Given the description of an element on the screen output the (x, y) to click on. 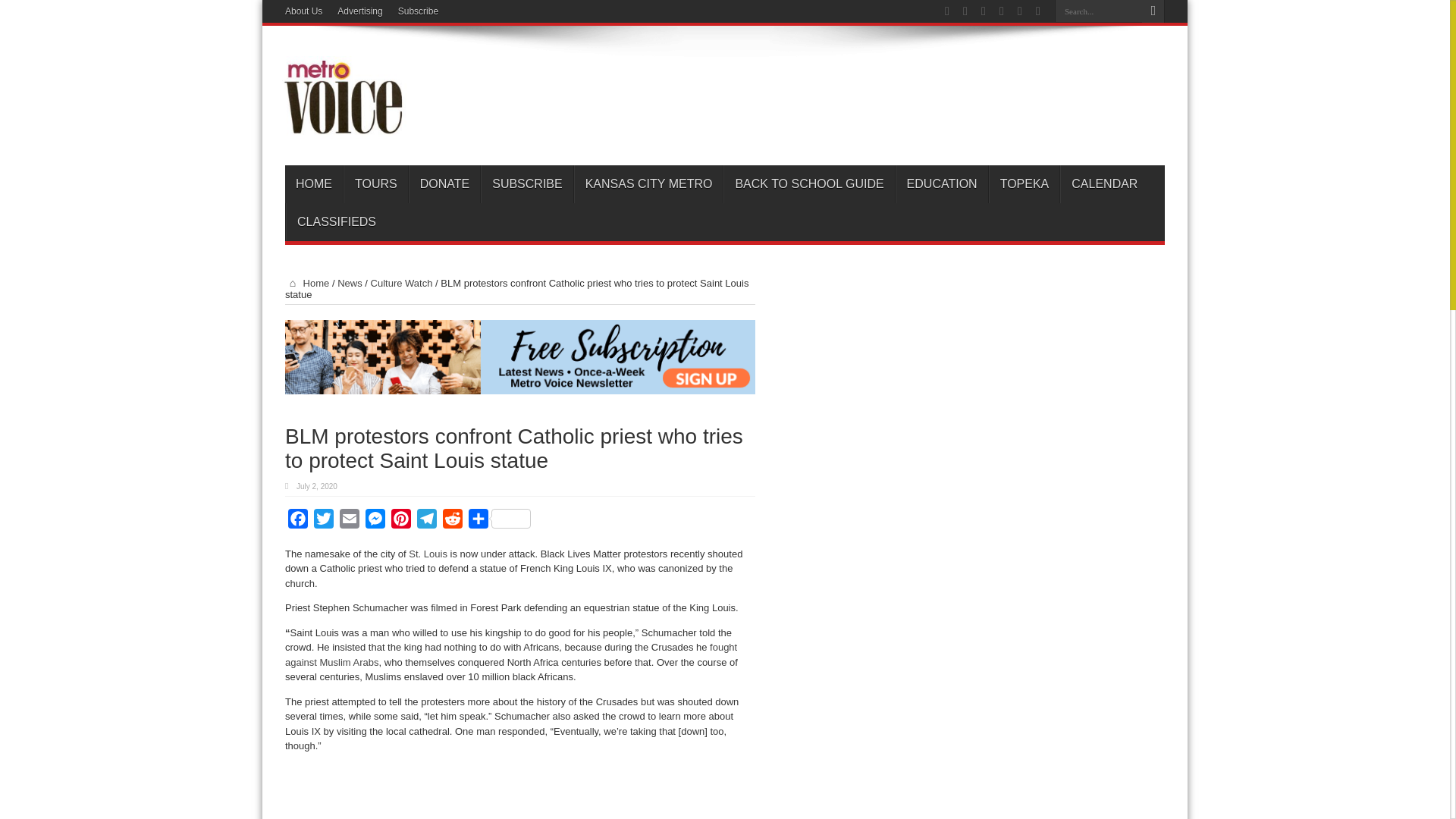
BACK TO SCHOOL GUIDE (808, 184)
KANSAS CITY METRO (648, 184)
Twitter (323, 521)
TOURS (375, 184)
Pinterest (400, 521)
SUBSCRIBE (526, 184)
Messenger (375, 521)
About Us (303, 11)
Reddit (452, 521)
TOPEKA (1023, 184)
